Given the description of an element on the screen output the (x, y) to click on. 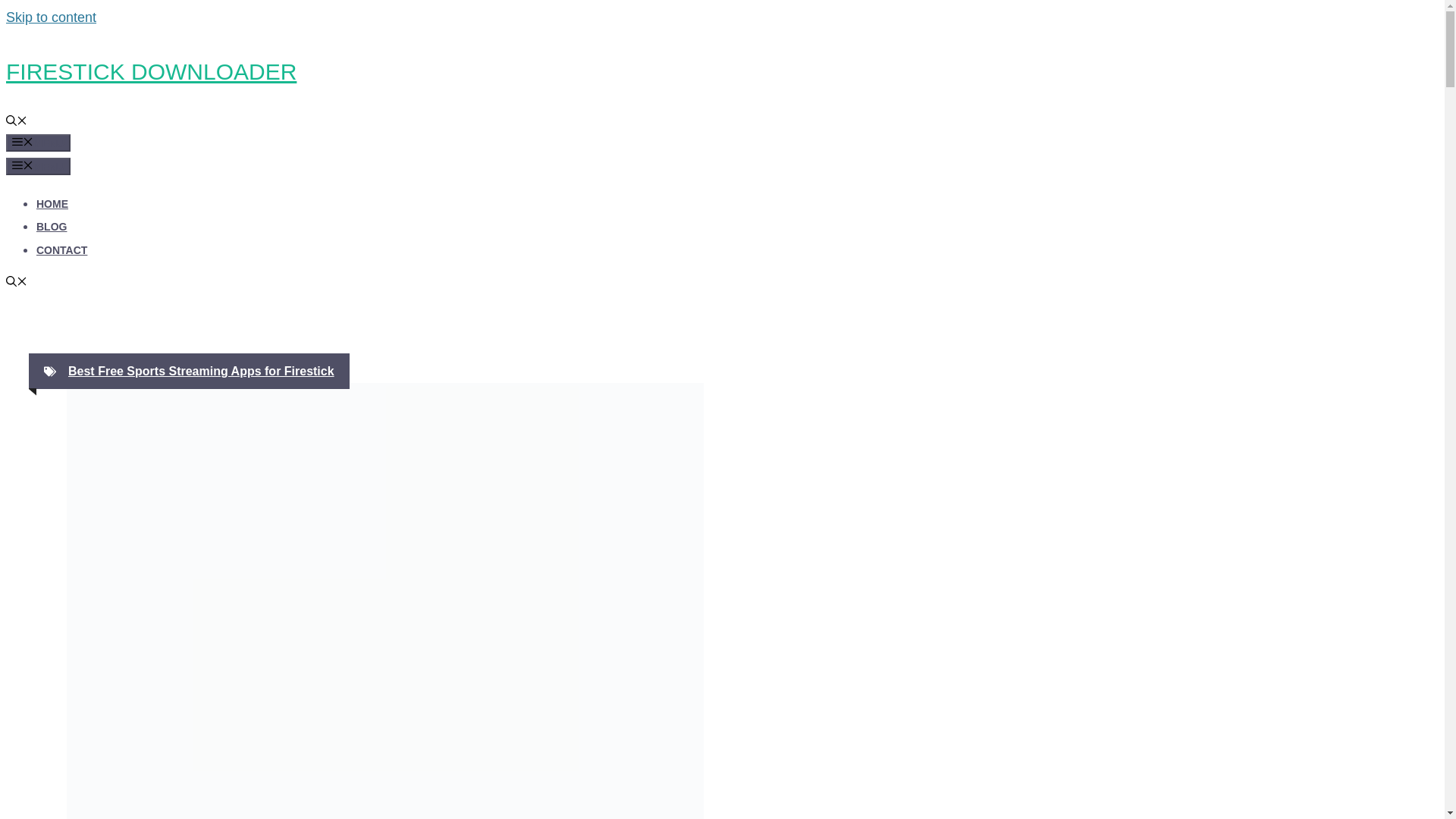
MENU (37, 142)
Skip to content (50, 17)
Skip to content (50, 17)
FIRESTICK DOWNLOADER (151, 71)
CONTACT (61, 250)
HOME (52, 203)
MENU (37, 166)
BLOG (51, 226)
Best Free Sports Streaming Apps for Firestick (201, 370)
